Given the description of an element on the screen output the (x, y) to click on. 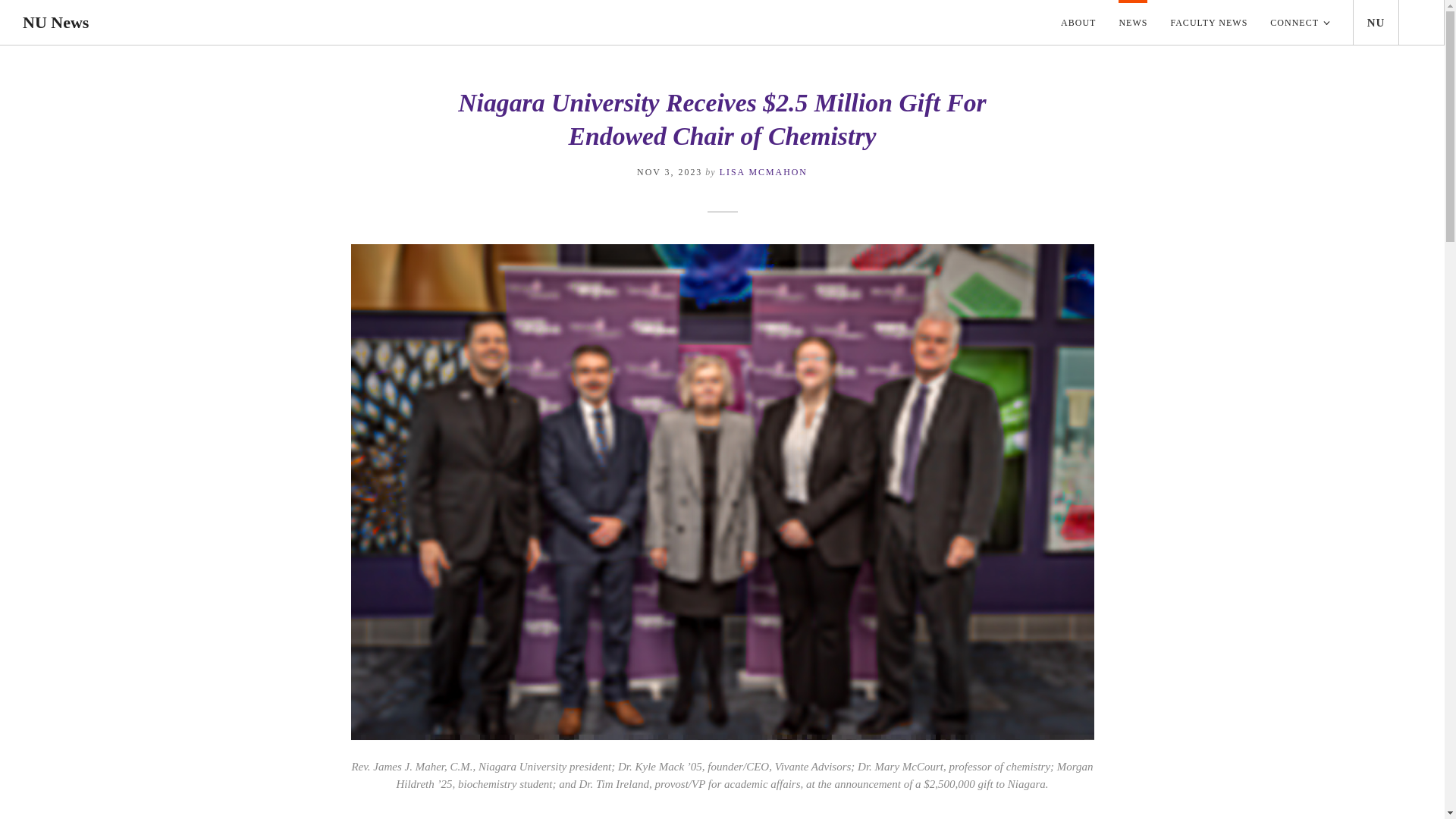
NU News (55, 22)
ABOUT (1072, 22)
CONNECT (1299, 22)
FACULTY NEWS (1208, 22)
NU (1376, 22)
LISA MCMAHON (763, 172)
NEWS (1132, 22)
